Given the description of an element on the screen output the (x, y) to click on. 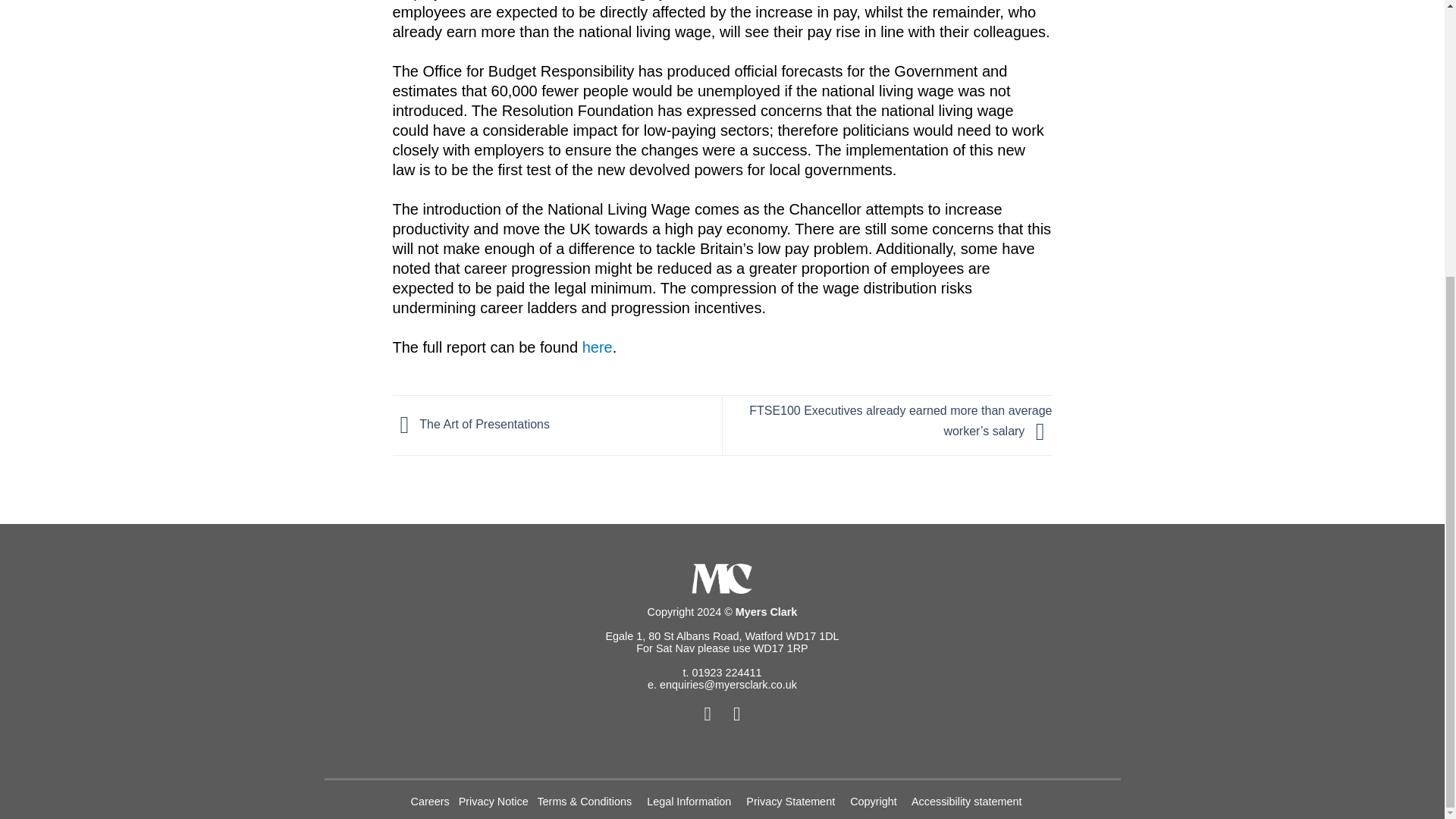
Careers (430, 801)
here (597, 347)
Privacy Notice (494, 801)
Privacy Statement (791, 801)
Accessibility statement (968, 801)
Legal Information (689, 801)
The Art of Presentations (471, 423)
t. 01923 224411 (721, 672)
Copyright (874, 801)
